Given the description of an element on the screen output the (x, y) to click on. 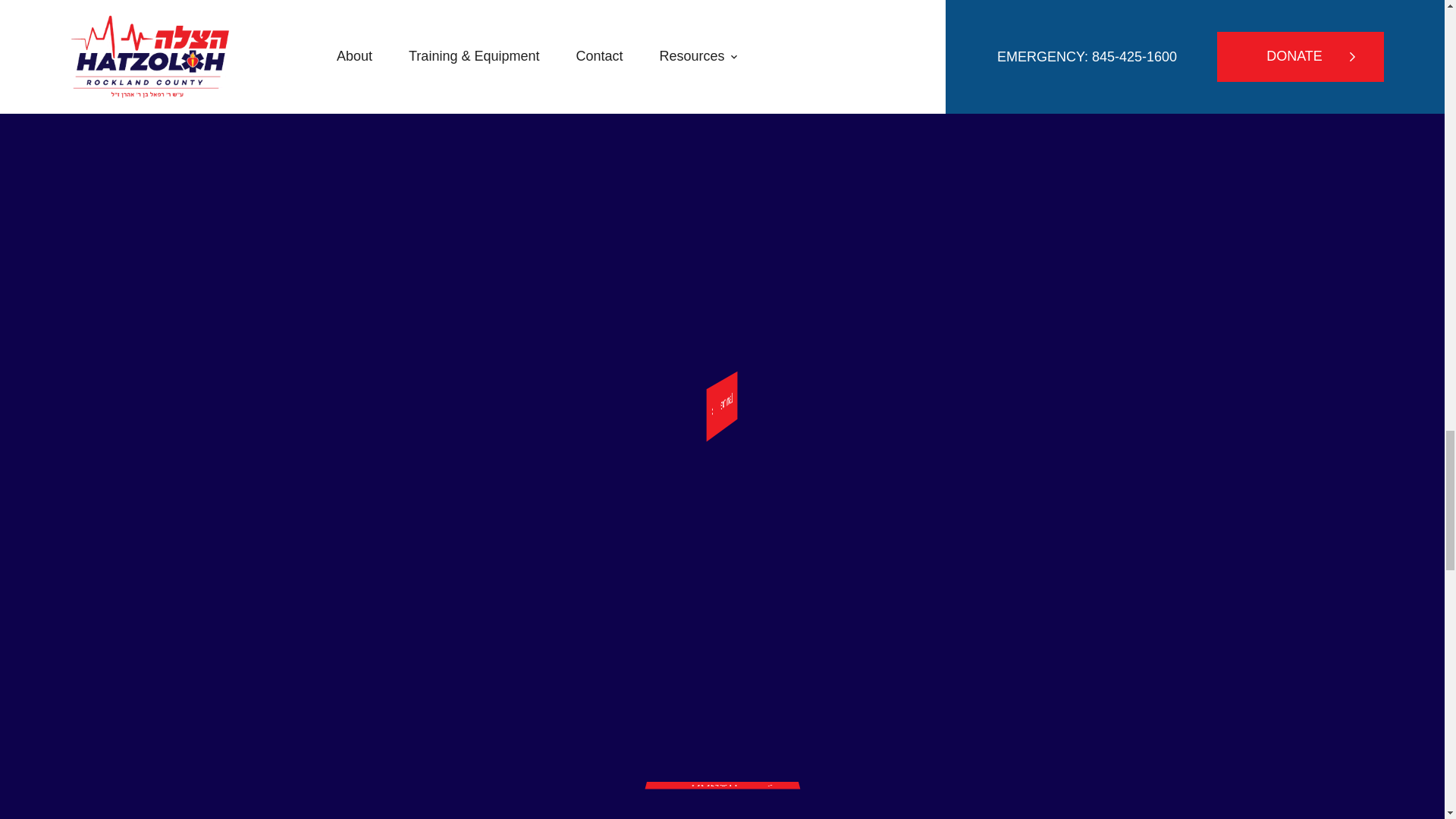
Learn more (794, 396)
DONATE (727, 800)
